Given the description of an element on the screen output the (x, y) to click on. 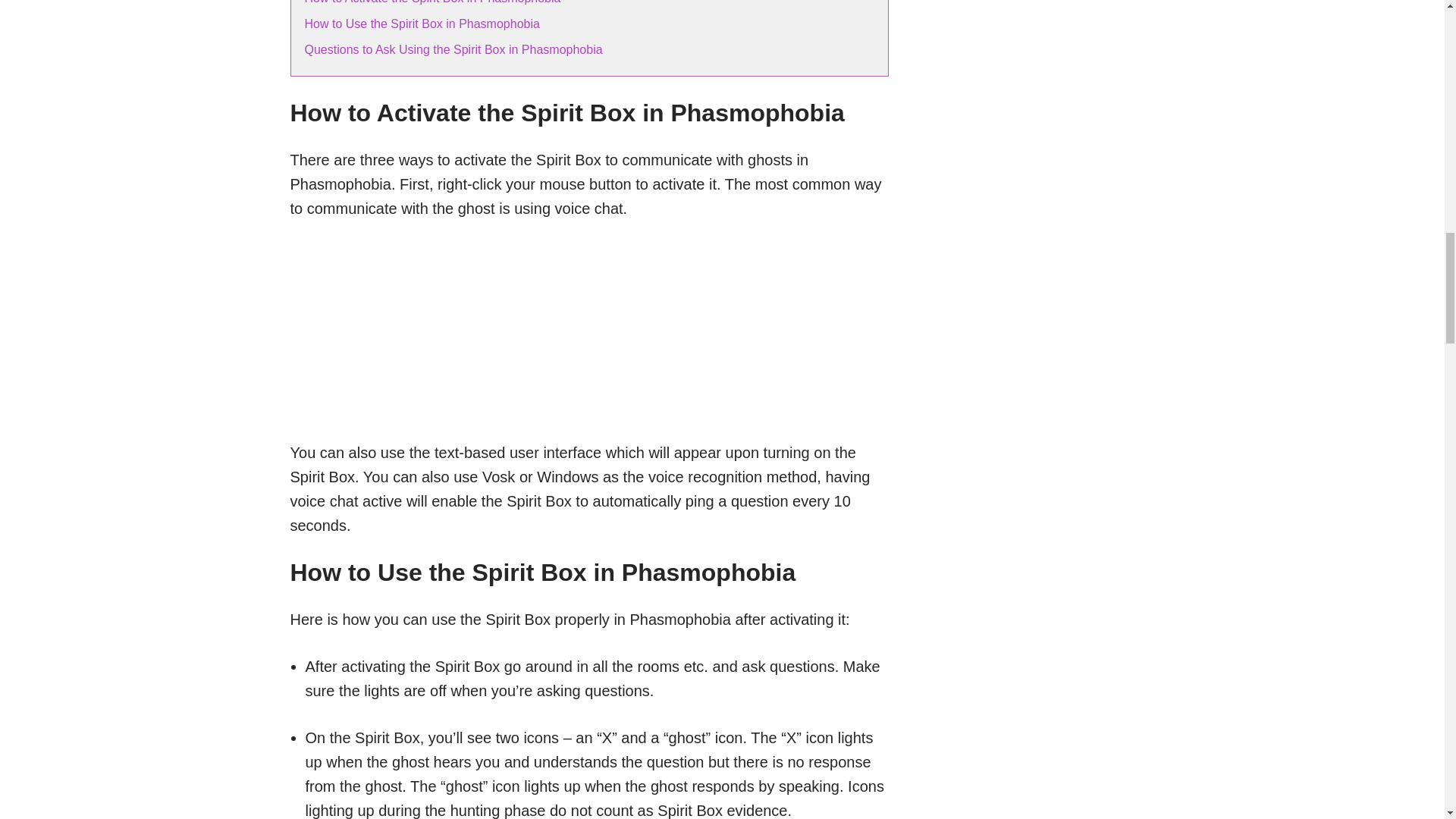
How to Activate the Spirit Box in Phasmophobia (432, 2)
How to Use the Spirit Box in Phasmophobia (422, 23)
